Given the description of an element on the screen output the (x, y) to click on. 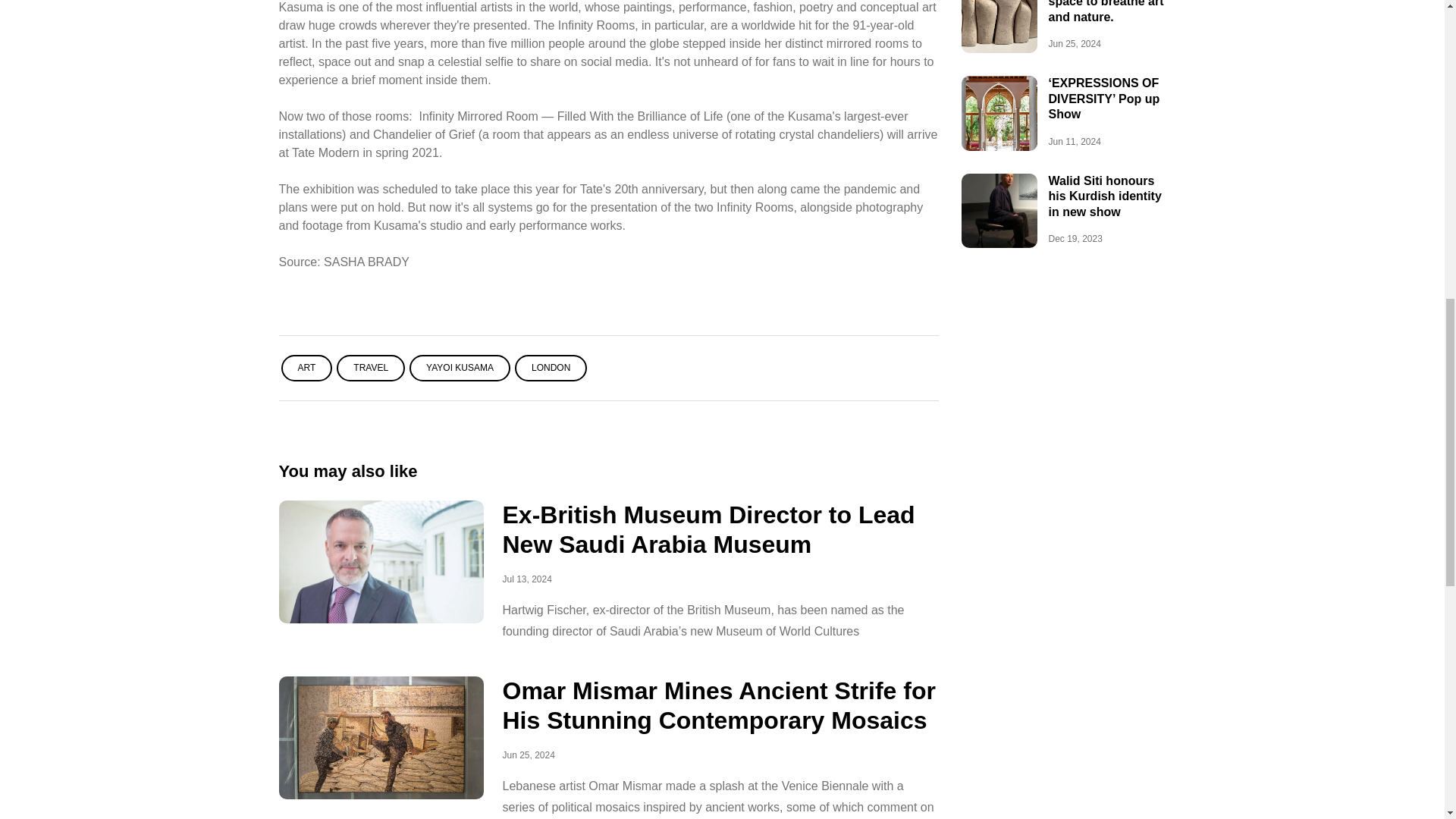
LONDON (550, 367)
ART (306, 367)
Ex-British Museum Director to Lead New Saudi Arabia Museum (708, 529)
TRAVEL (370, 367)
Walid Siti honours his Kurdish identity in new show (1104, 196)
YAYOI KUSAMA (460, 367)
